Given the description of an element on the screen output the (x, y) to click on. 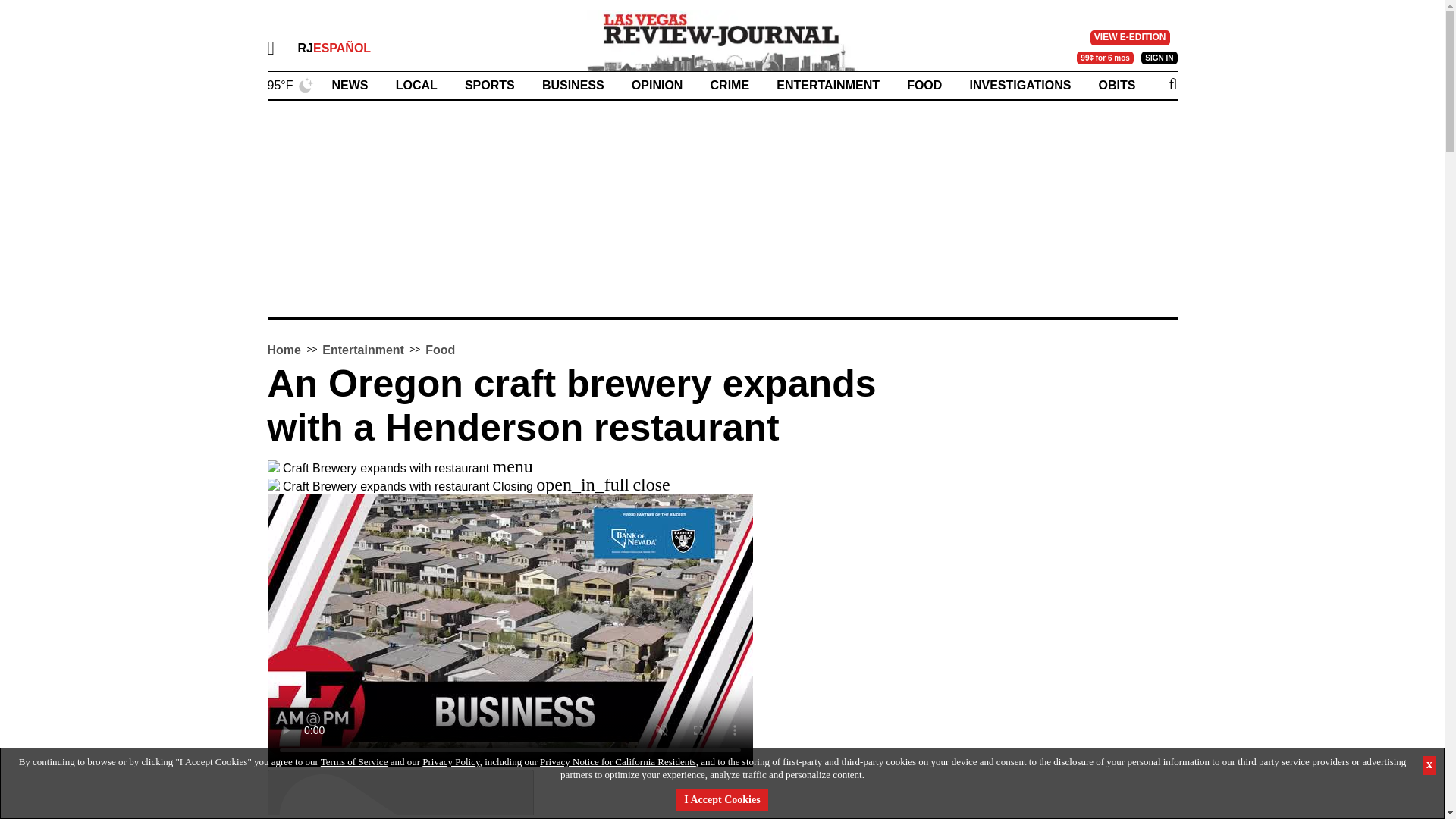
ENTERTAINMENT (827, 84)
OBITS (1117, 84)
VIEW E-EDITION (1130, 37)
OPINION (656, 84)
CRIME (729, 84)
SIGN IN (1158, 58)
Las Vegas News (721, 39)
BUSINESS (572, 84)
NEWS (349, 84)
LOCAL (417, 84)
